Given the description of an element on the screen output the (x, y) to click on. 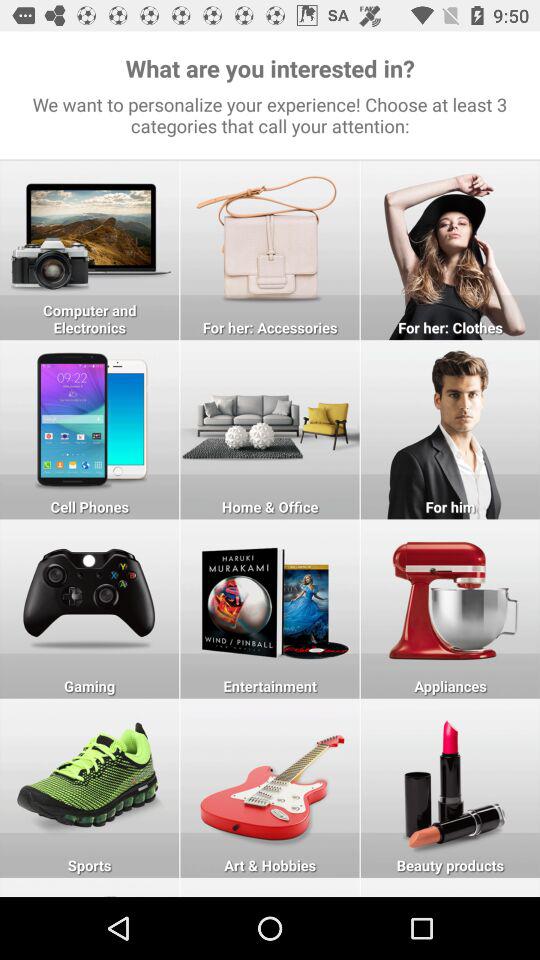
click art hobbies option (269, 787)
